Given the description of an element on the screen output the (x, y) to click on. 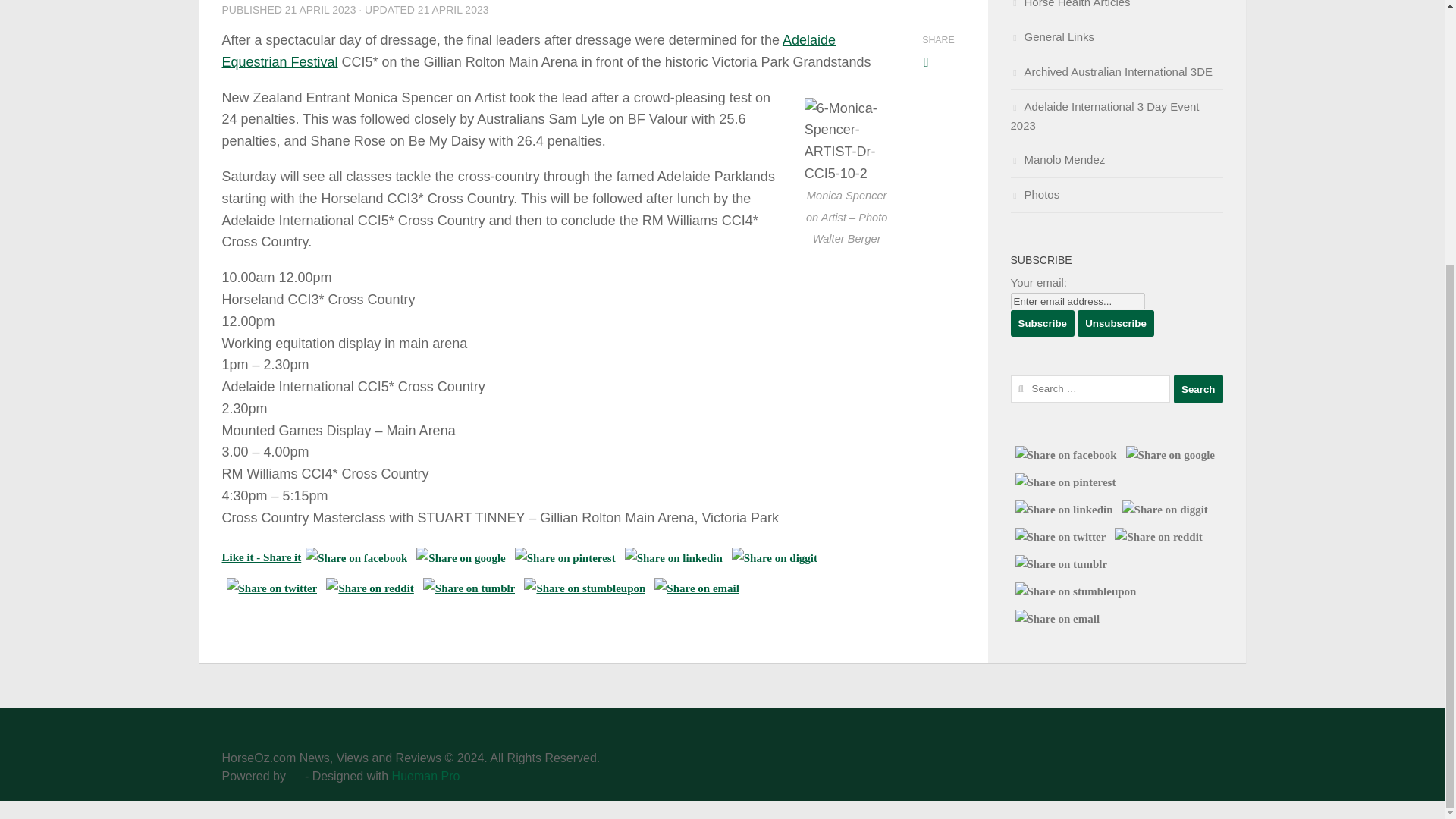
Unsubscribe (1115, 323)
diggit (774, 558)
pinterest (565, 558)
Search (1198, 388)
reddit (369, 588)
twitter (271, 588)
linkedin (673, 558)
Like it - Share it (261, 557)
Search (1198, 388)
google (460, 558)
